Given the description of an element on the screen output the (x, y) to click on. 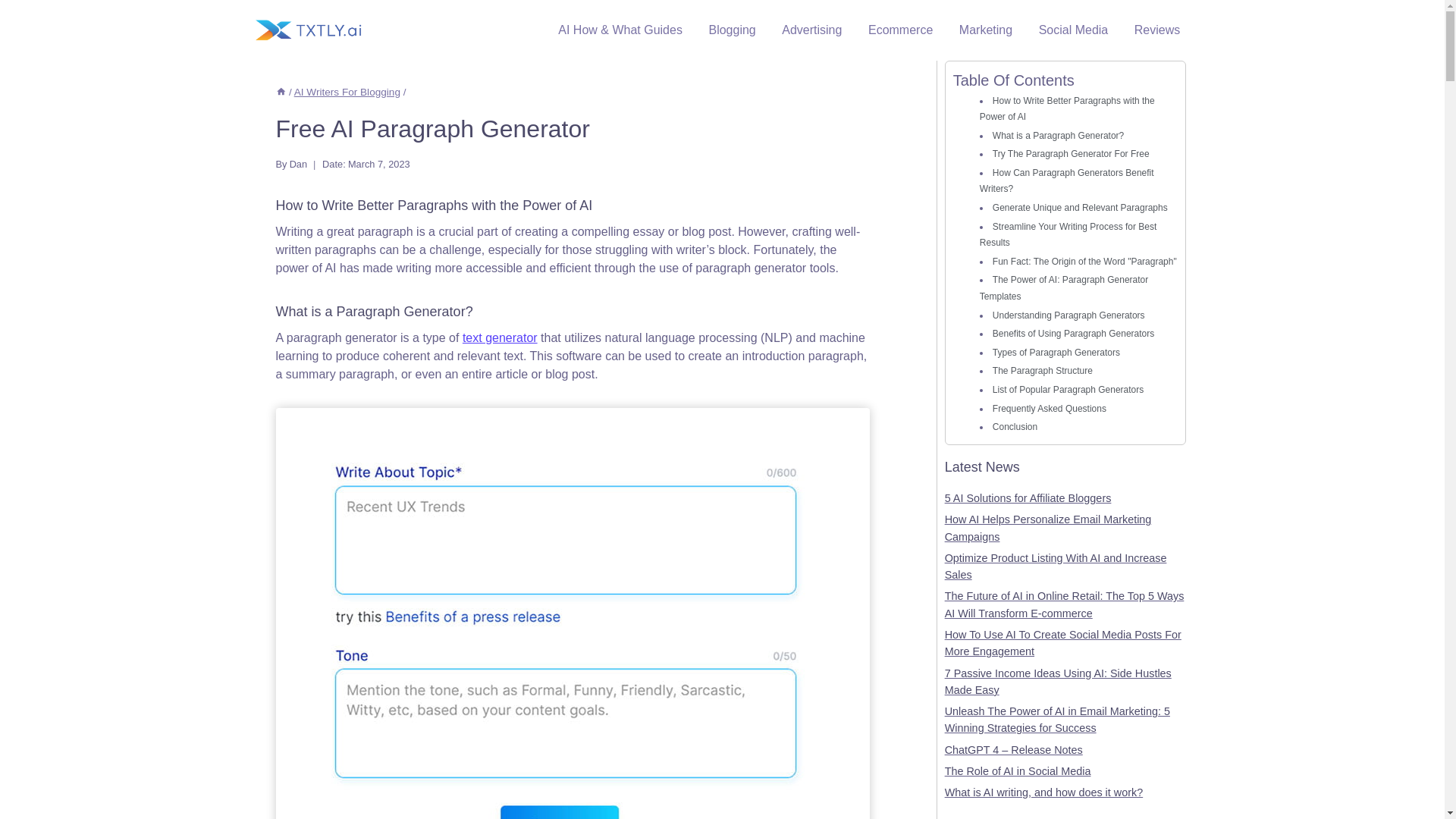
Marketing (986, 29)
Dan (298, 163)
Advertising (812, 29)
Home (281, 91)
Ecommerce (901, 29)
Social Media (1073, 29)
Reviews (1156, 29)
Blogging (731, 29)
AI Writers For Blogging (347, 91)
text generator (500, 337)
